Given the description of an element on the screen output the (x, y) to click on. 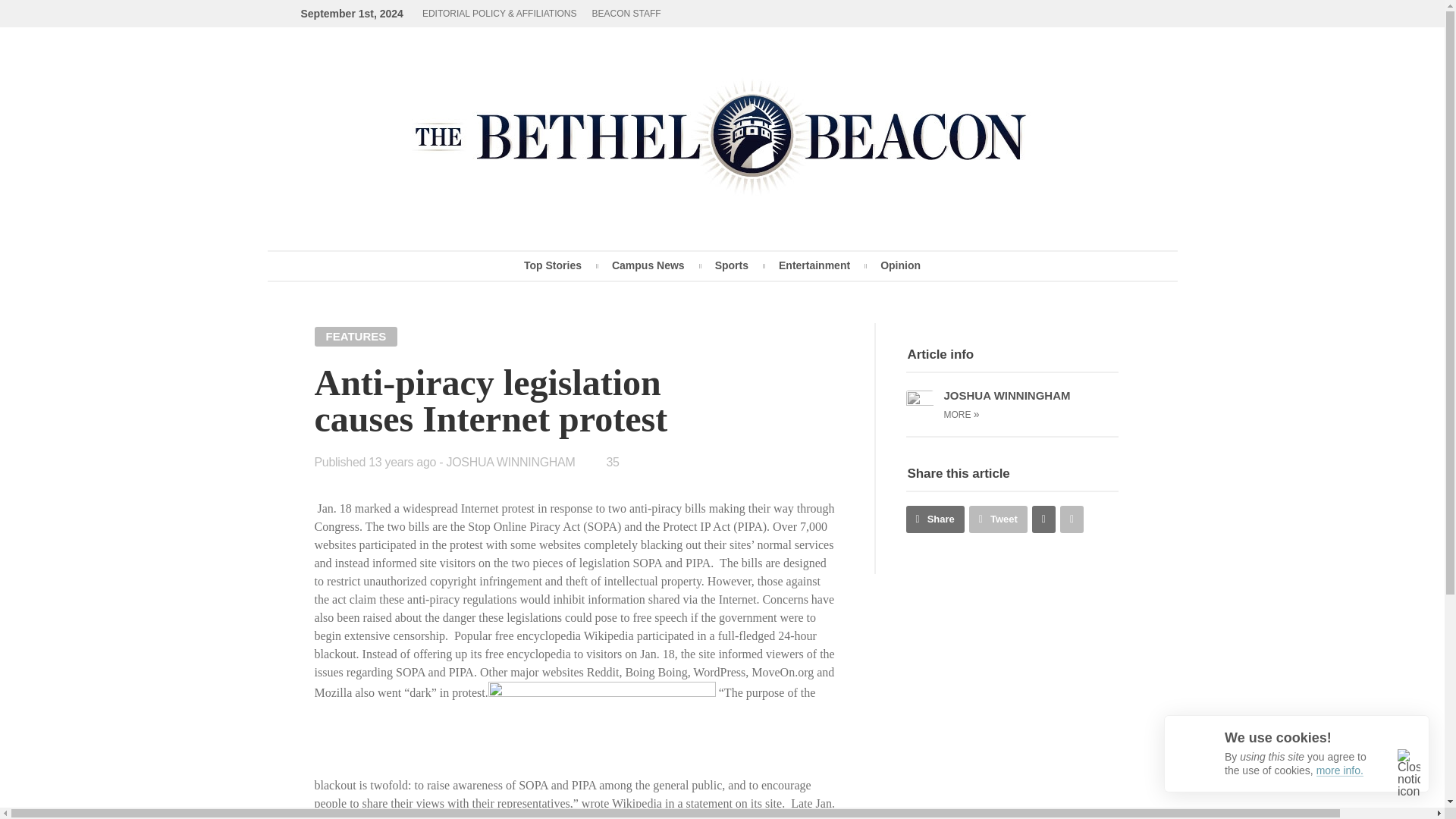
Entertainment (813, 265)
JOSHUA WINNINGHAM (510, 461)
Share (934, 519)
r-WIKIPEDIA-BLACKOUT-large570 (601, 728)
Top Stories (552, 265)
BEACON STAFF (626, 13)
Tweet (998, 519)
Sports (732, 265)
Campus News (648, 265)
Search (948, 163)
